Given the description of an element on the screen output the (x, y) to click on. 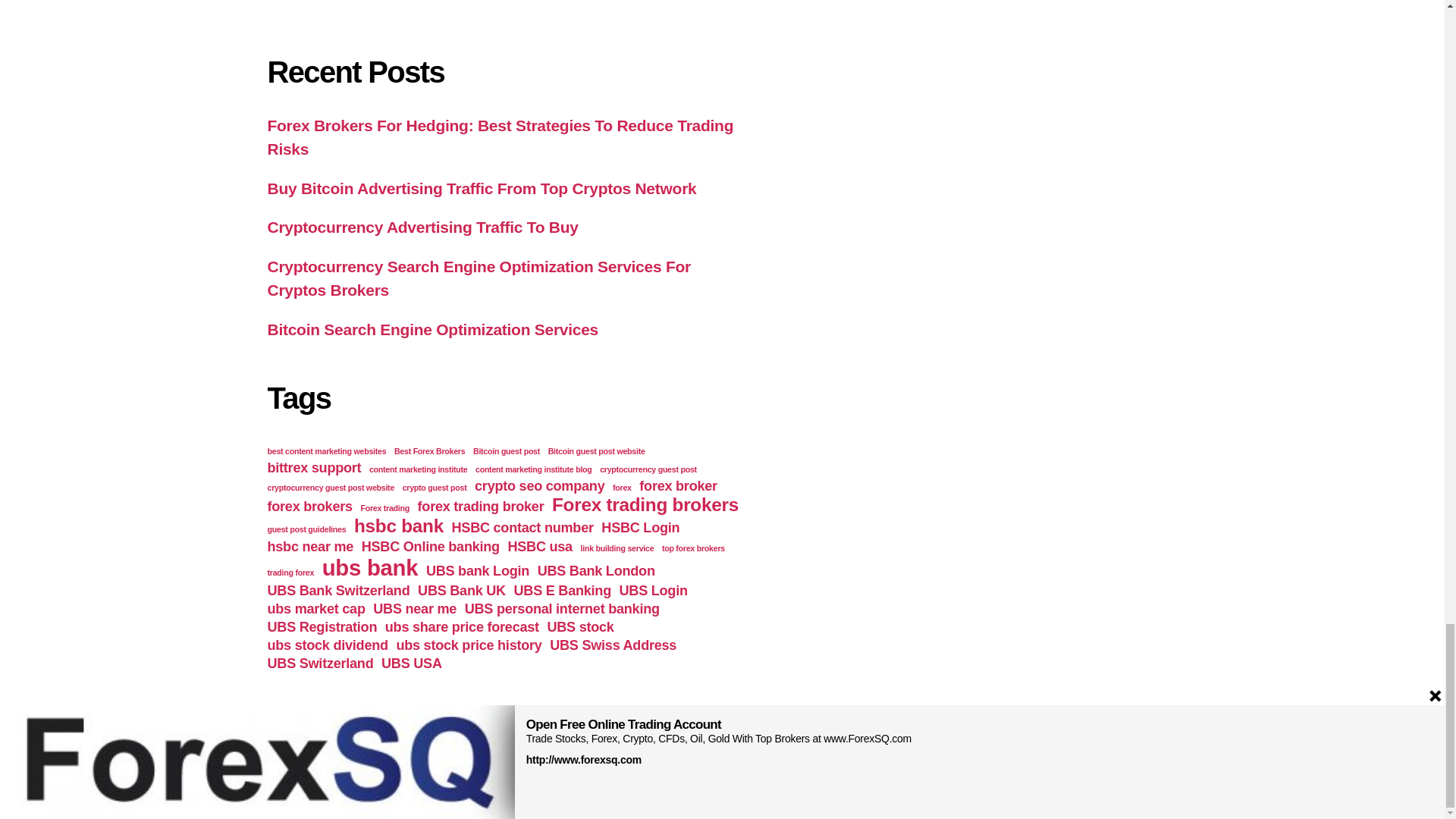
Buy Bitcoin Advertising Traffic From Top Cryptos Network (480, 188)
cryptocurrency guest post (648, 469)
cryptocurrency guest post website (330, 487)
Cryptocurrency Advertising Traffic To Buy (422, 226)
content marketing institute blog (534, 469)
Best Forex Brokers (429, 450)
content marketing institute (418, 469)
Bitcoin Search Engine Optimization Services (432, 329)
